Given the description of an element on the screen output the (x, y) to click on. 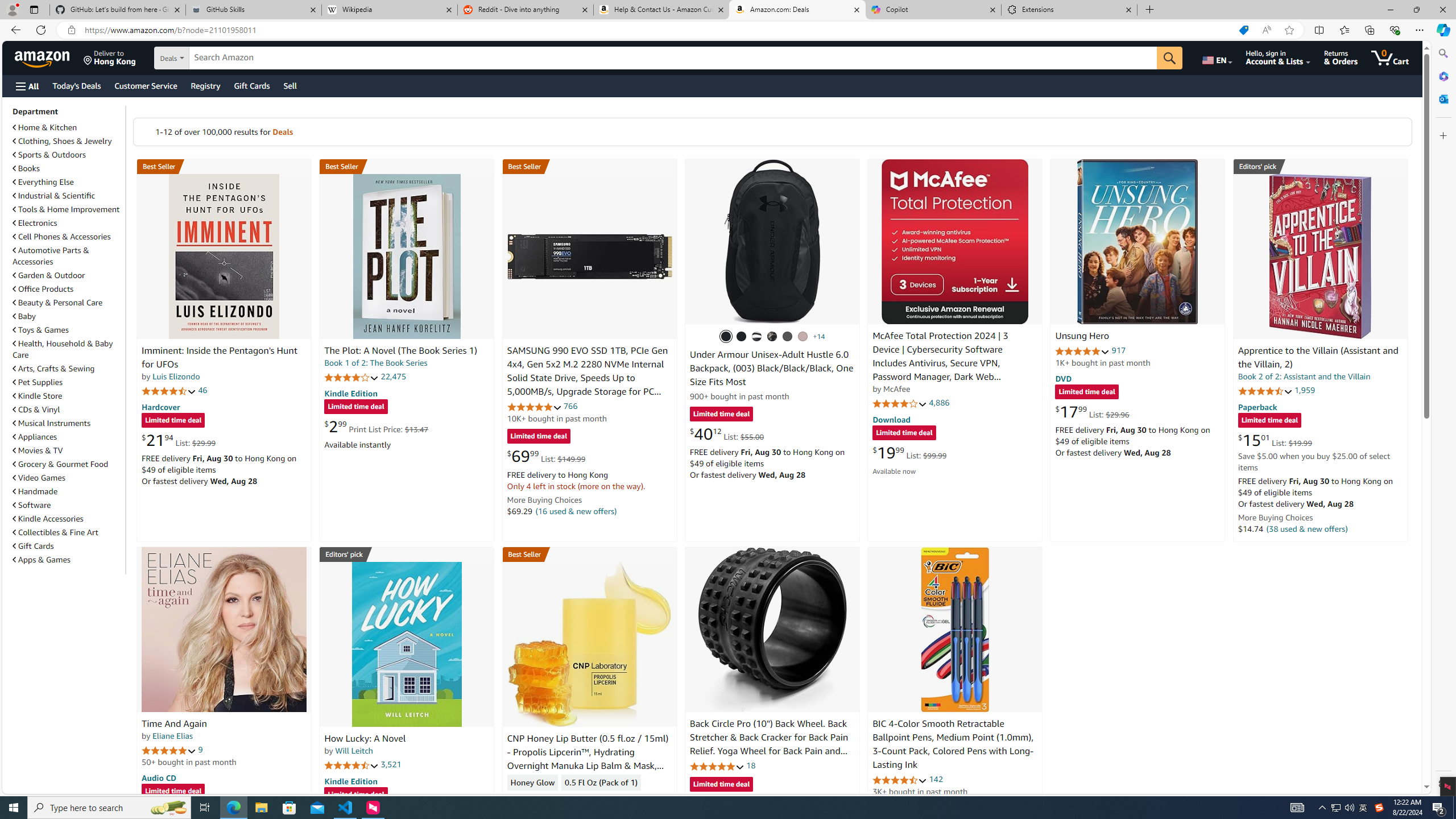
Book 2 of 2: Assistant and the Villain (1303, 376)
Unsung Hero (1082, 336)
Tools & Home Improvement (66, 208)
Kindle Edition (350, 780)
Registry (205, 85)
Download (891, 419)
Hello, sign in Account & Lists (1278, 57)
Shopping in Microsoft Edge (1243, 29)
Electronics (34, 222)
Handmade (67, 491)
Appliances (67, 436)
Will Leitch (353, 750)
Movies & TV (67, 450)
Kindle Store (67, 395)
